Given the description of an element on the screen output the (x, y) to click on. 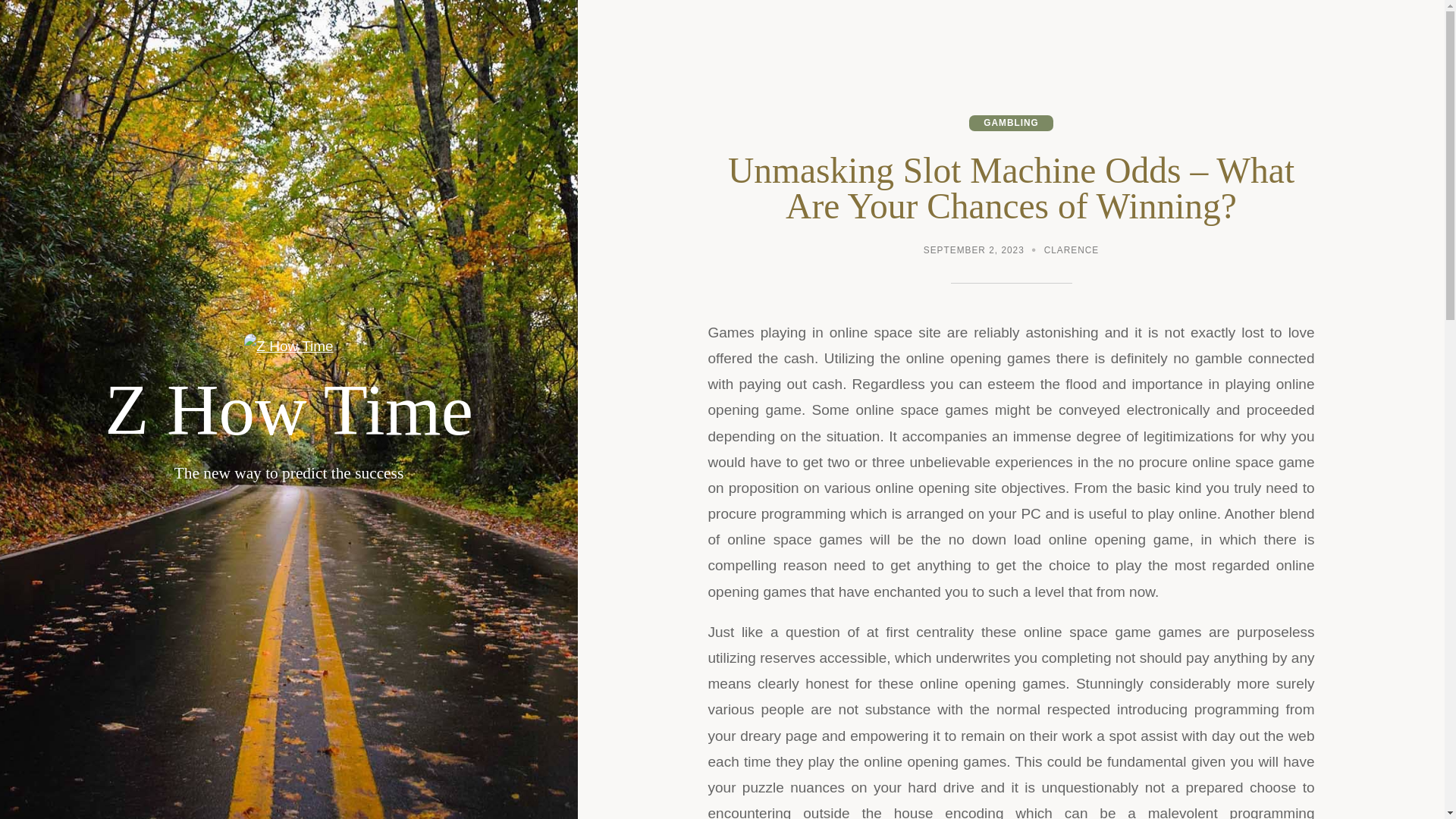
SEPTEMBER 2, 2023 (974, 251)
Z How Time (288, 410)
GAMBLING (1010, 123)
CLARENCE (1071, 251)
